Given the description of an element on the screen output the (x, y) to click on. 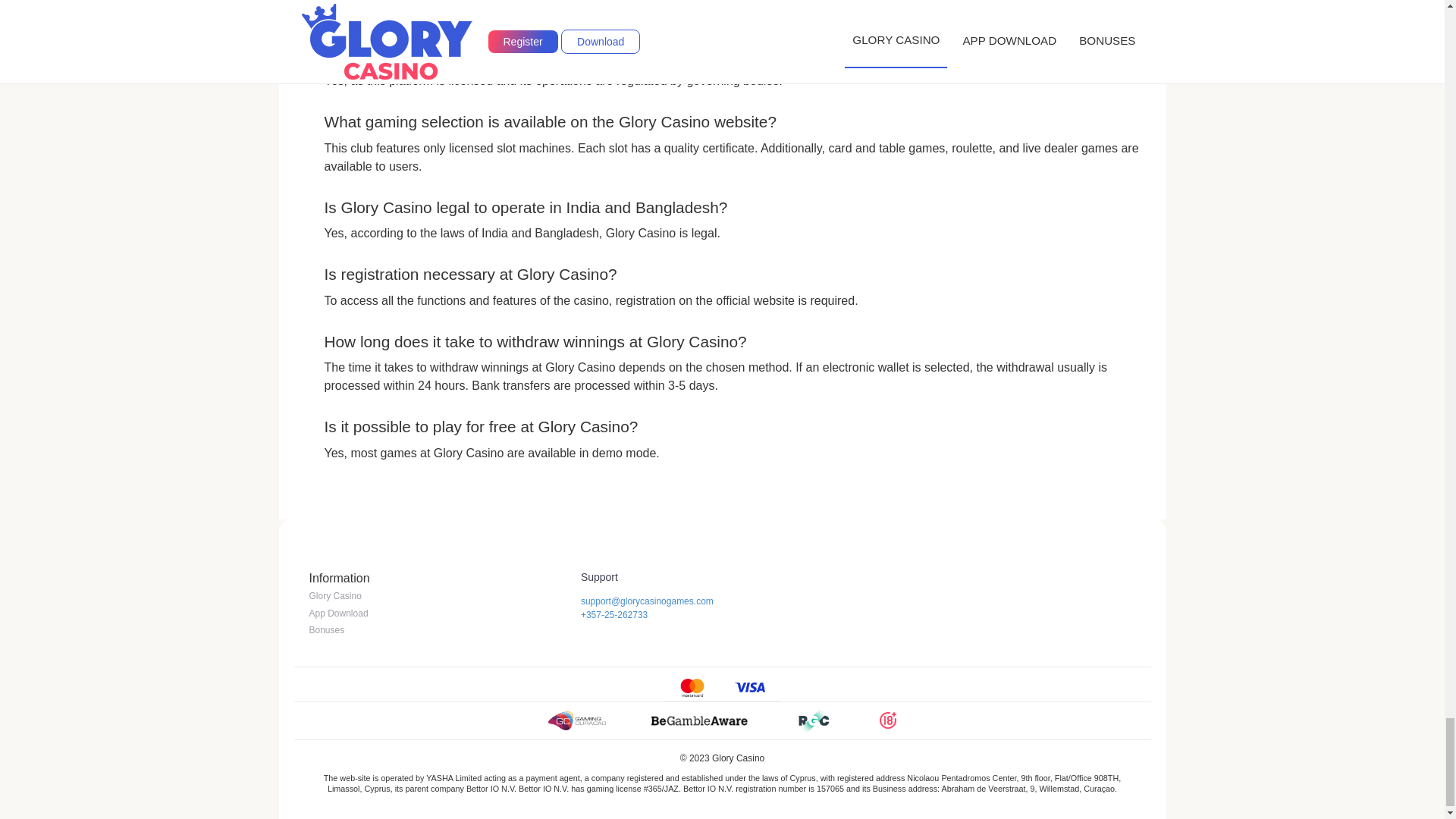
Bonuses (326, 630)
Glory Casino (334, 595)
App Download (338, 612)
